Given the description of an element on the screen output the (x, y) to click on. 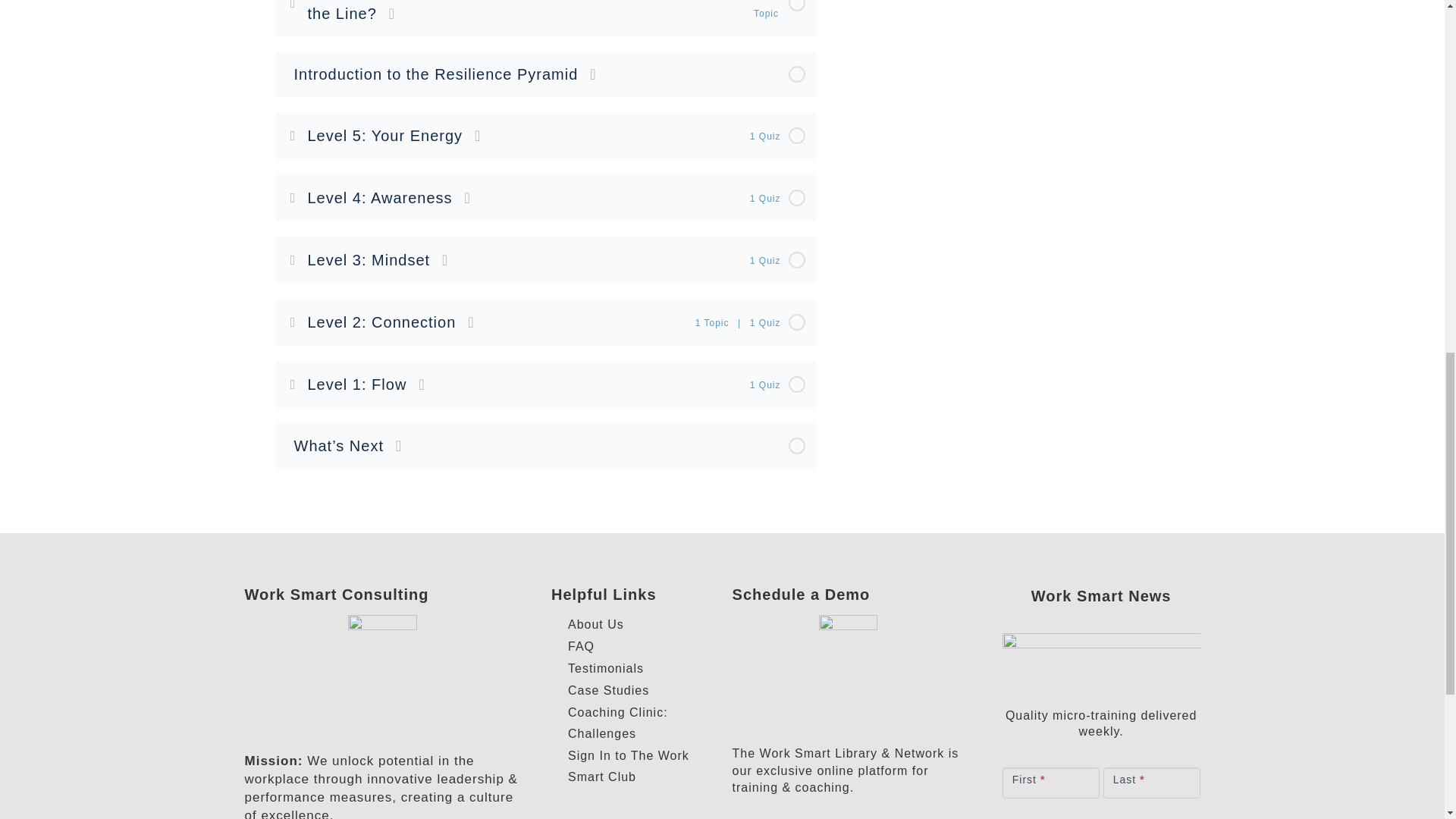
Introduction to the Resilience Pyramid (545, 74)
